Given the description of an element on the screen output the (x, y) to click on. 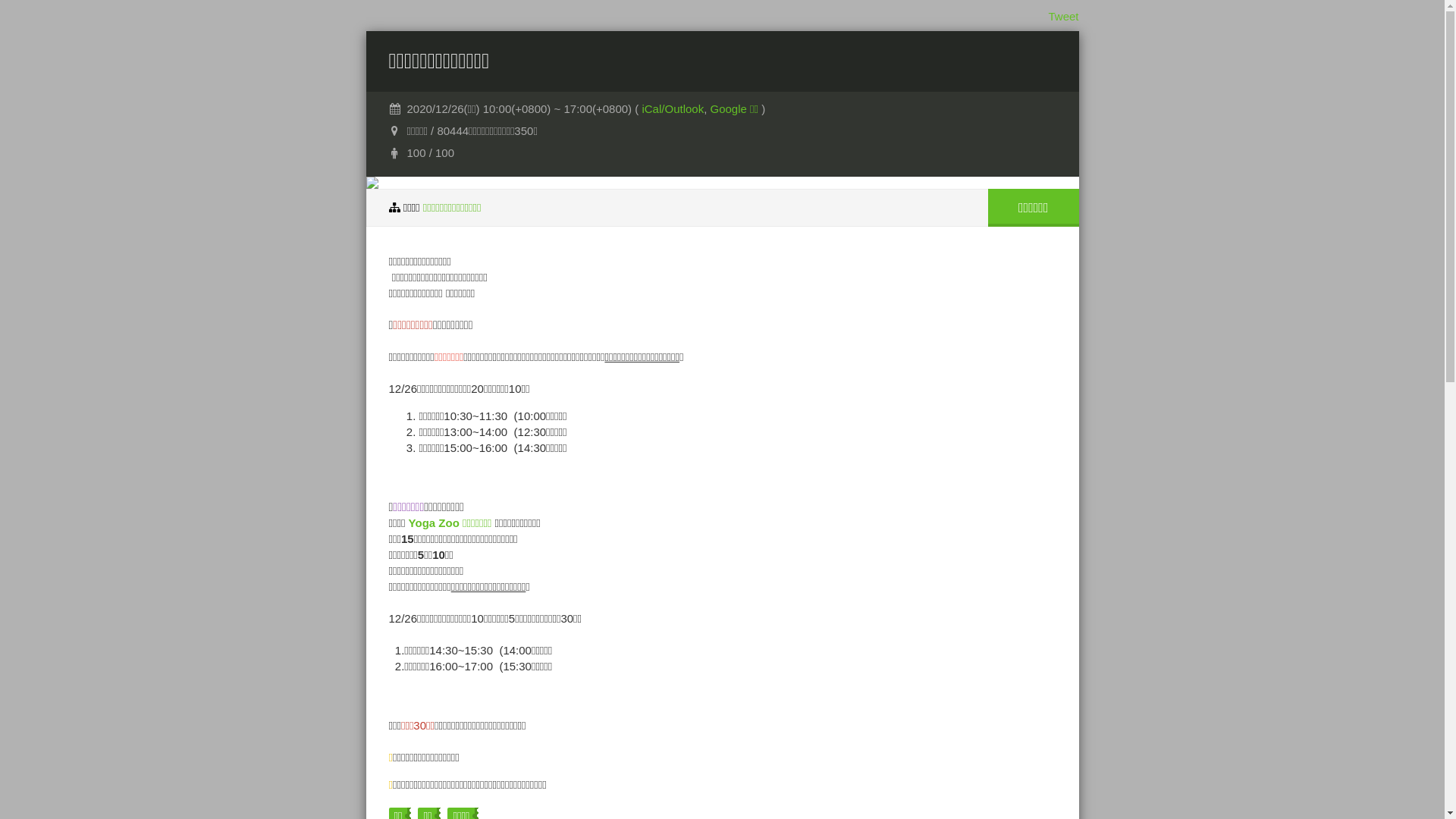
iCal/Outlook Element type: text (672, 108)
Tweet Element type: text (1063, 15)
